Given the description of an element on the screen output the (x, y) to click on. 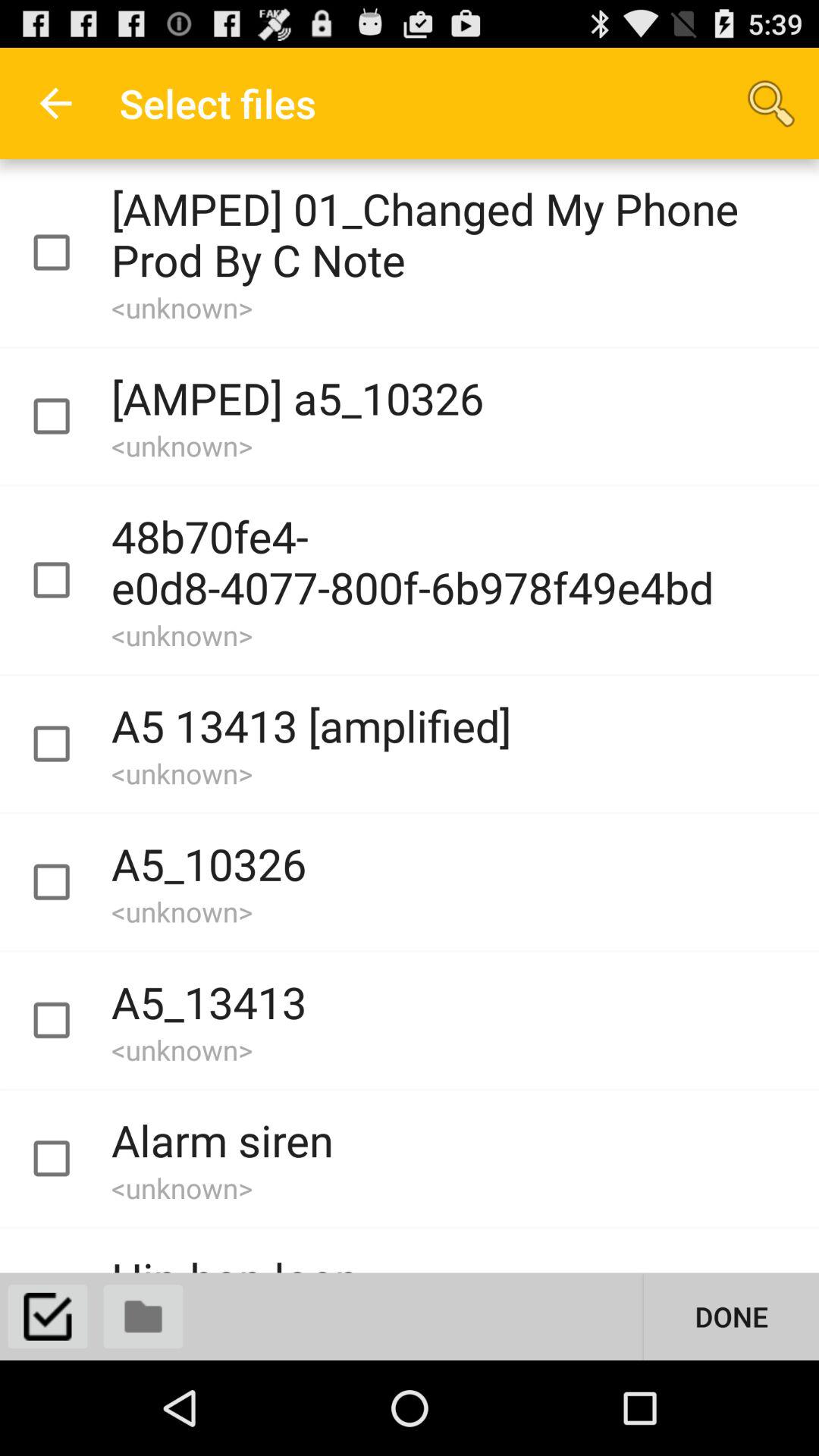
toggle file (65, 1020)
